Given the description of an element on the screen output the (x, y) to click on. 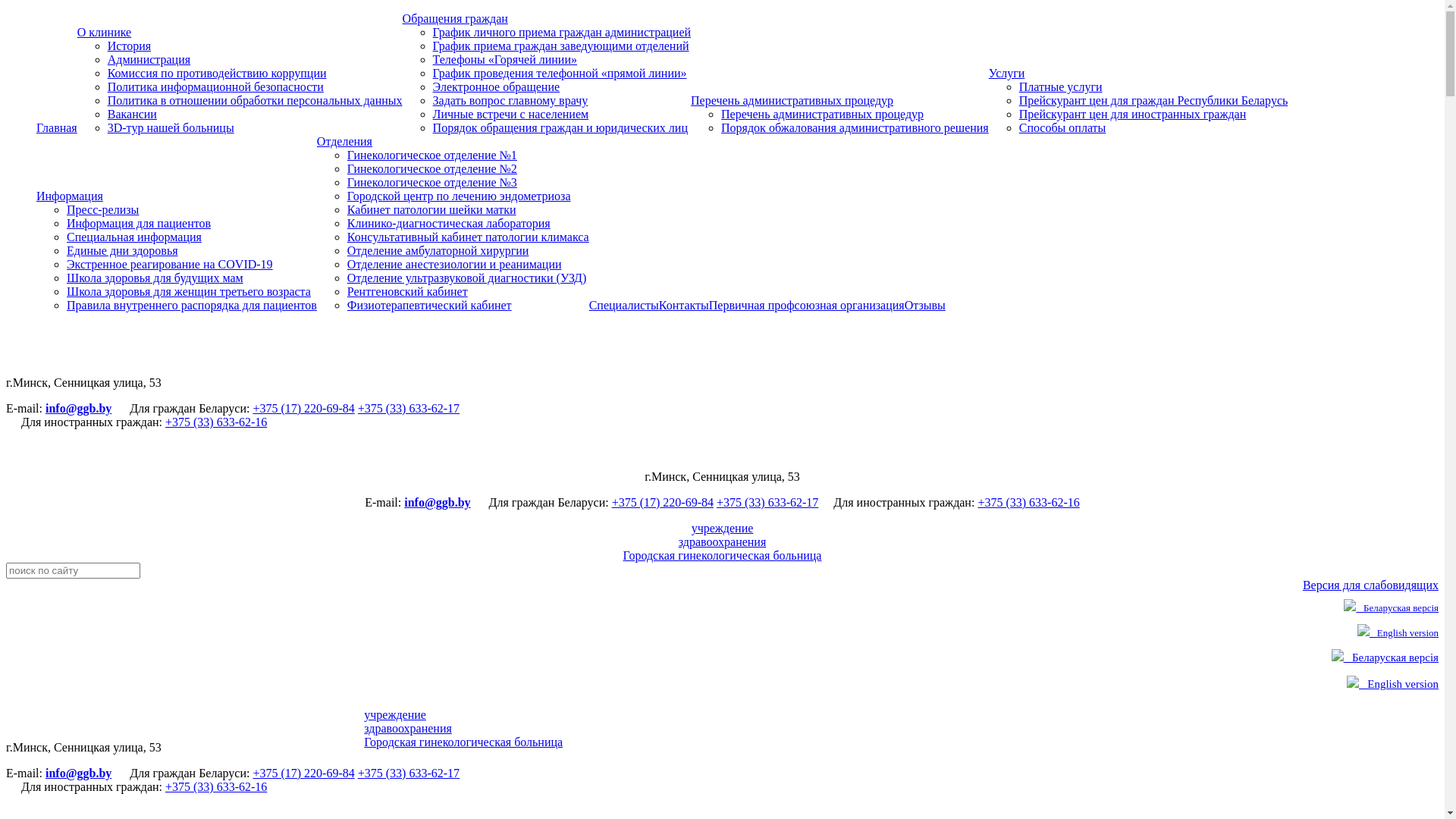
info@ggb.by Element type: text (437, 501)
   English version Element type: text (1392, 683)
+375 (33) 633-62-17 Element type: text (408, 772)
+375 (17) 220-69-84 Element type: text (303, 407)
+375 (33) 633-62-16 Element type: text (215, 421)
+375 (33) 633-62-16 Element type: text (1028, 501)
+375 (17) 220-69-84 Element type: text (303, 772)
+375 (17) 220-69-84 Element type: text (662, 501)
+375 (33) 633-62-17 Element type: text (767, 501)
+375 (33) 633-62-16 Element type: text (215, 786)
info@ggb.by Element type: text (78, 407)
   English version Element type: text (1397, 632)
info@ggb.by Element type: text (78, 772)
+375 (33) 633-62-17 Element type: text (408, 407)
